Given the description of an element on the screen output the (x, y) to click on. 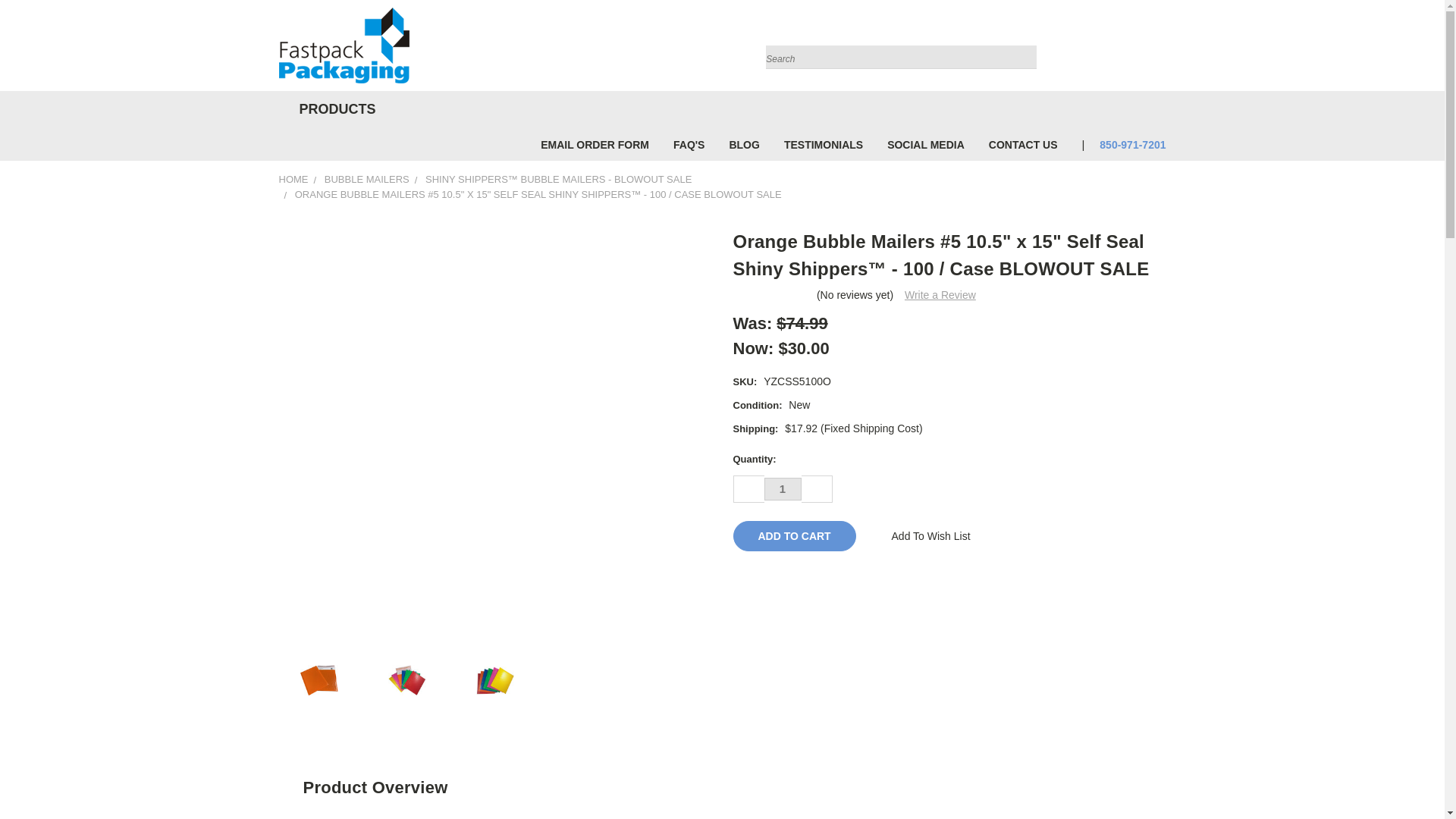
PRODUCTS (333, 109)
User Toolbox (1105, 48)
Gift Certificates (1135, 48)
1 (783, 488)
Add to Cart (794, 535)
Cart (1161, 48)
Fastpack Packaging (344, 45)
Submit Search (1024, 47)
